Given the description of an element on the screen output the (x, y) to click on. 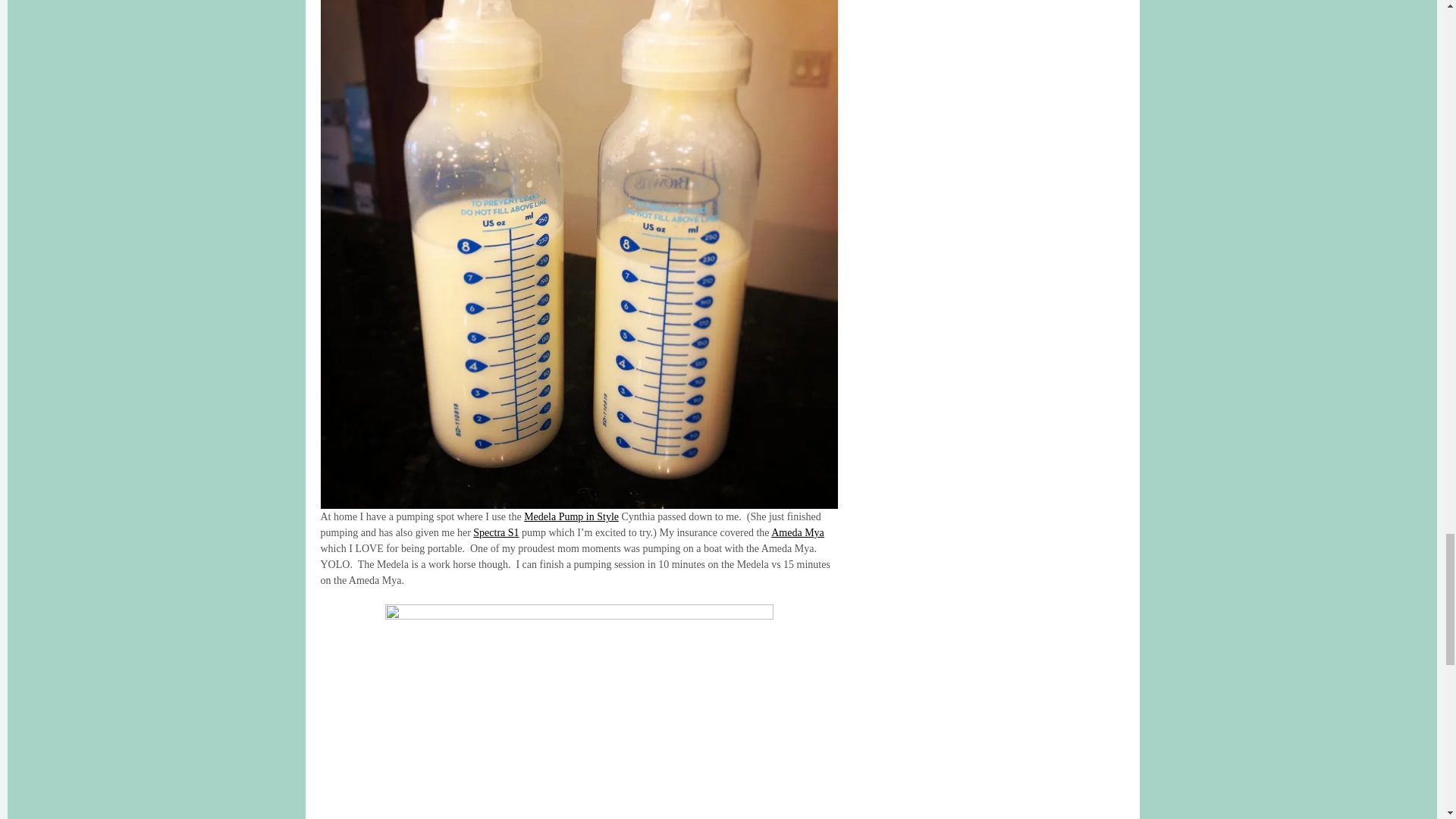
Medela Pump in Style (571, 516)
Spectra S1 (495, 532)
Ameda Mya (797, 532)
